Given the description of an element on the screen output the (x, y) to click on. 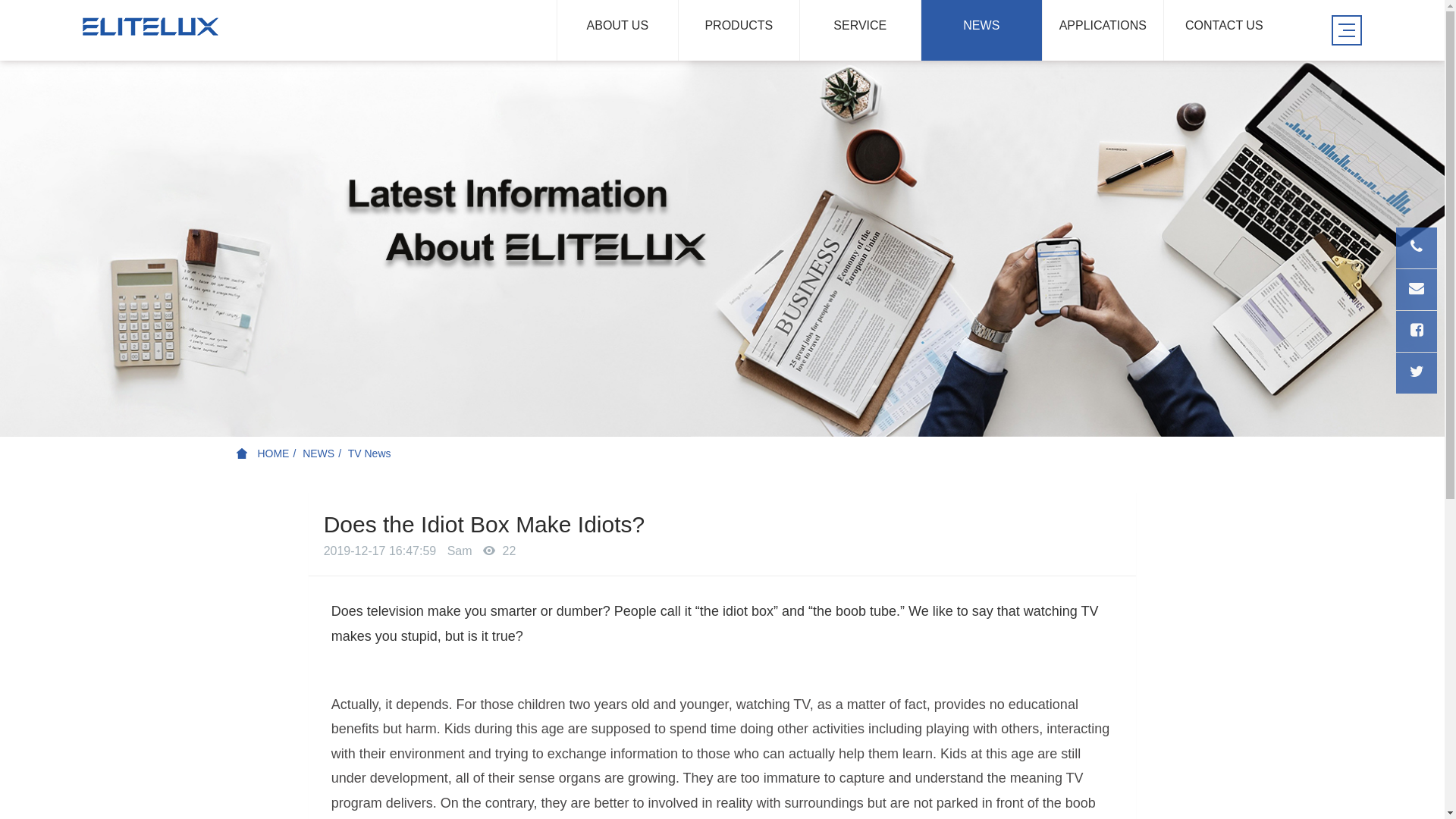
www.facebook.com Element type: hover (1416, 330)
NEWS Element type: text (981, 30)
SERVICE Element type: text (860, 30)
TWITTER Element type: hover (1416, 372)
APPLICATIONS Element type: text (1102, 30)
EMAIL Element type: hover (1416, 289)
NEWS Element type: text (318, 453)
PRODUCTS Element type: text (738, 30)
HOME Element type: text (262, 453)
TV News Element type: text (369, 453)
ABOUT US Element type: text (617, 30)
1300-388-324 Element type: hover (1416, 247)
CONTACT US Element type: text (1224, 30)
ELITELUX TV Element type: hover (150, 26)
